Given the description of an element on the screen output the (x, y) to click on. 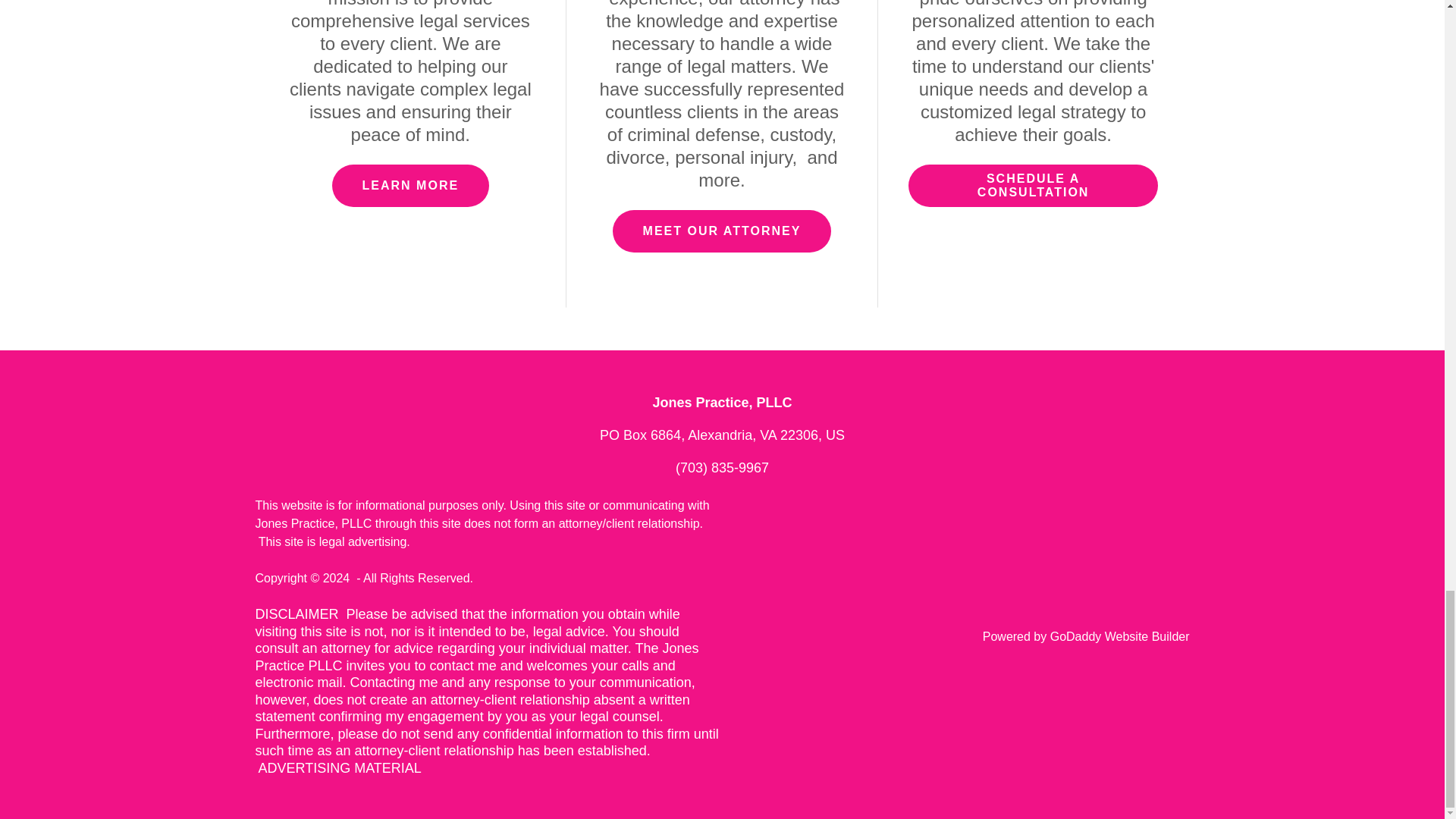
SCHEDULE A CONSULTATION (1033, 185)
LEARN MORE (410, 185)
MEET OUR ATTORNEY (721, 230)
GoDaddy (1075, 635)
